Given the description of an element on the screen output the (x, y) to click on. 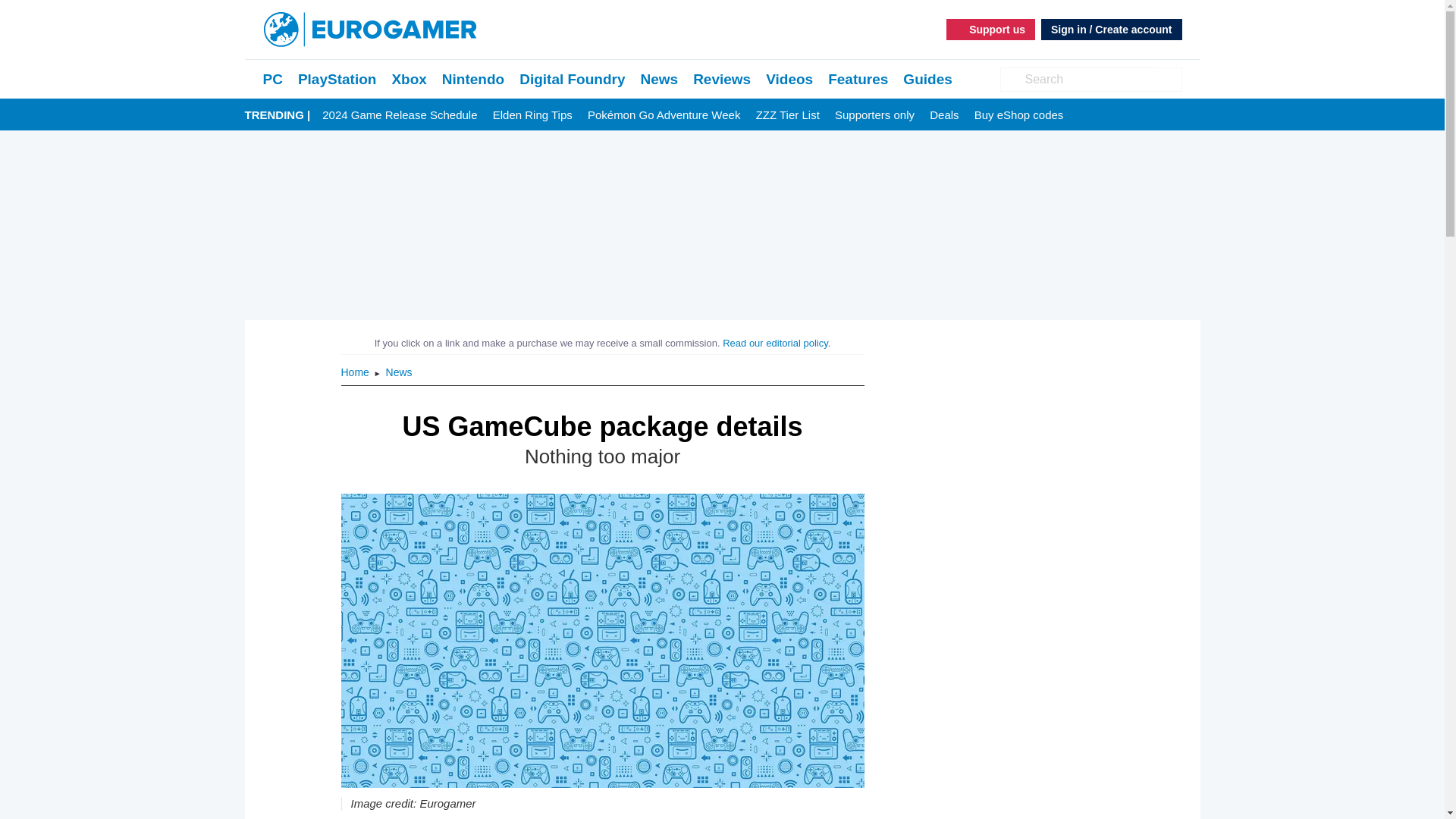
Xbox (408, 78)
Guides (927, 78)
Nintendo (472, 78)
News (659, 78)
ZZZ Tier List (787, 114)
Support us (990, 29)
Xbox (408, 78)
Reviews (722, 78)
Videos (788, 78)
Deals (944, 114)
2024 Game Release Schedule (399, 114)
ZZZ Tier List (787, 114)
Reviews (722, 78)
Supporters only (874, 114)
Elden Ring Tips (532, 114)
